Given the description of an element on the screen output the (x, y) to click on. 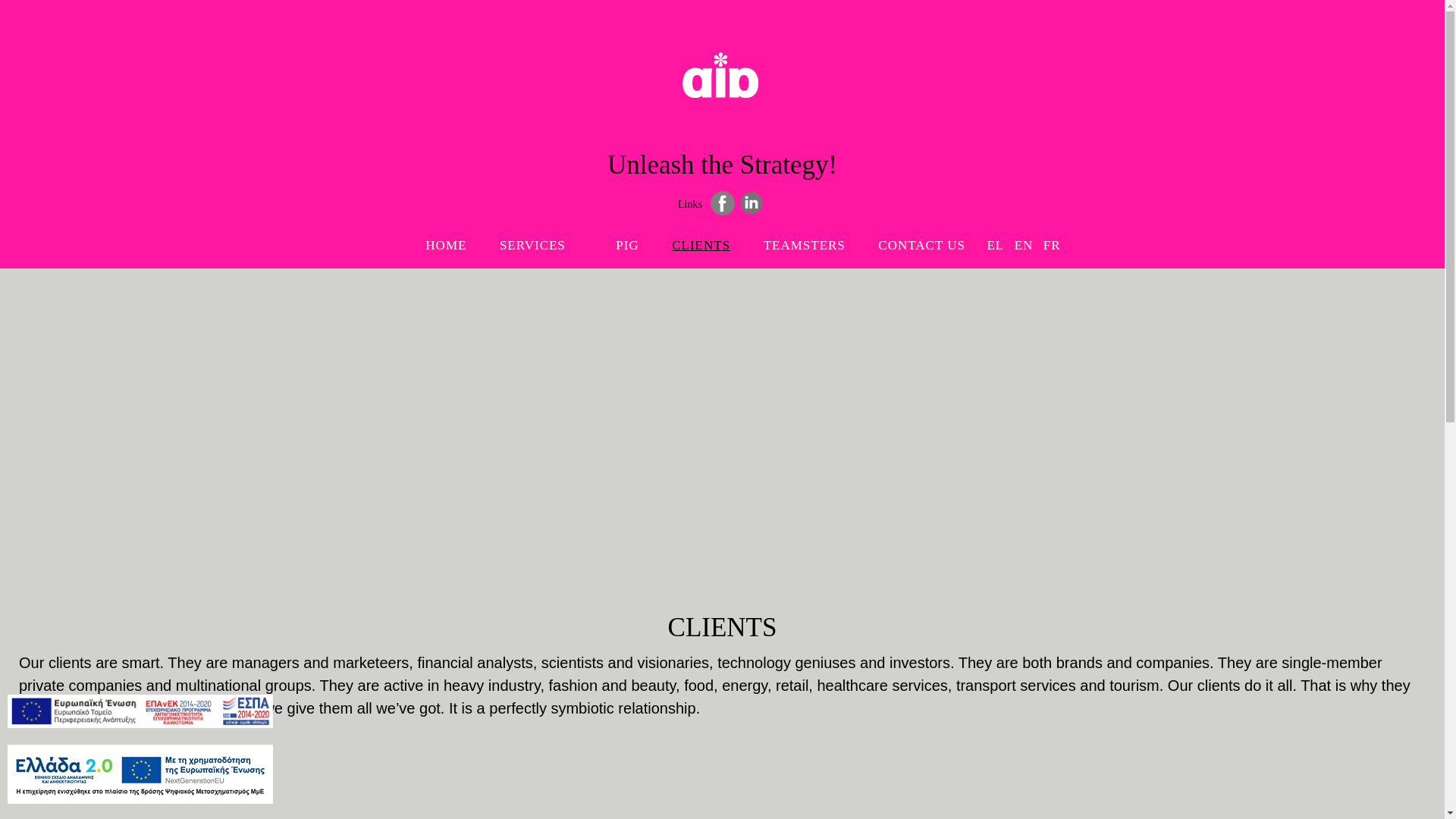
aea.gr (722, 94)
HOME (445, 244)
PIG (626, 244)
CONTACT US (921, 244)
CLIENTS (722, 224)
SERVICES (700, 244)
TEAMSTERS (541, 244)
loading page-08 (804, 244)
